Given the description of an element on the screen output the (x, y) to click on. 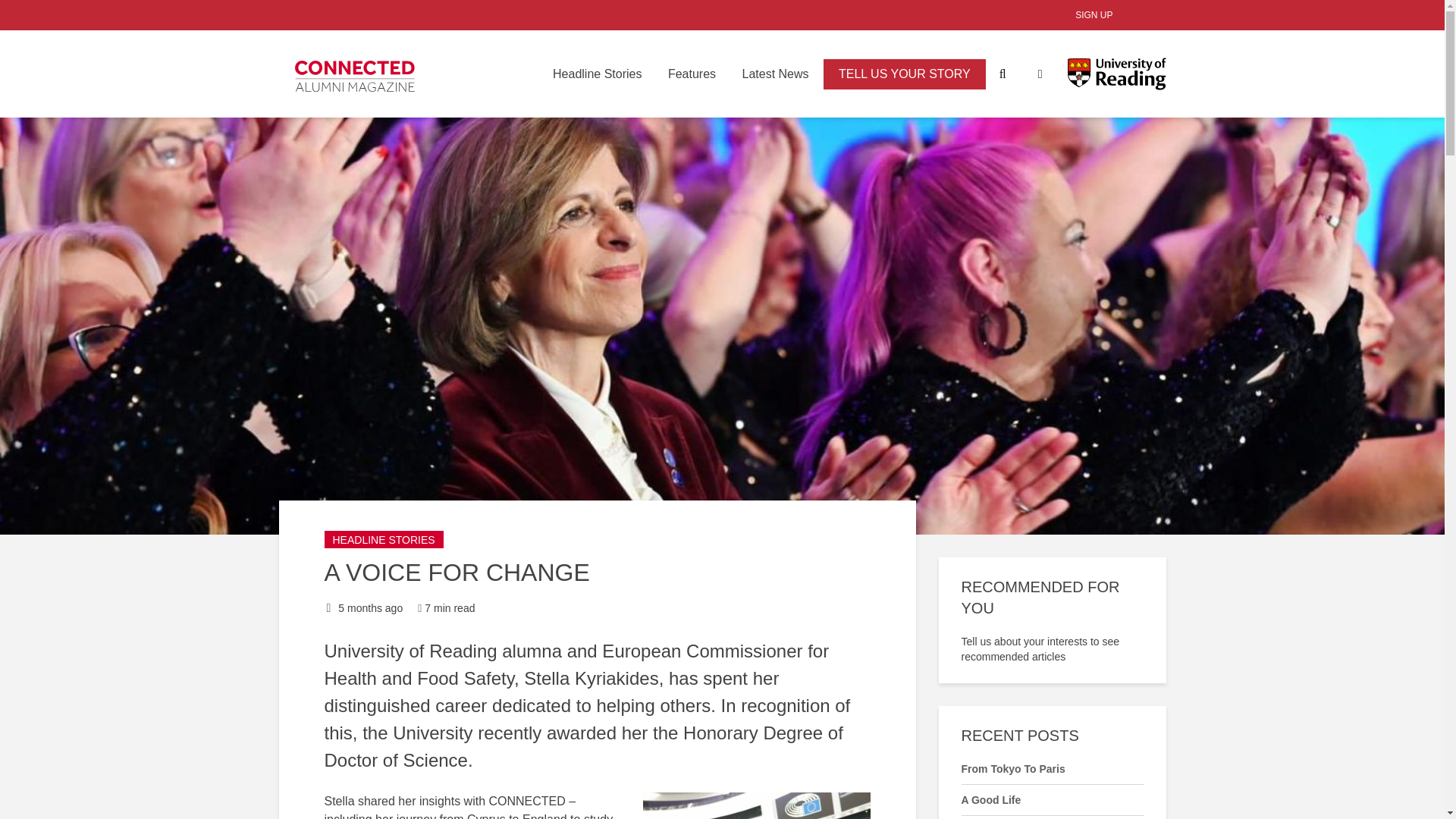
Headline Stories (596, 73)
Latest News (774, 73)
Tell us about your interests to see recommended articles (1051, 648)
Tell us about your interests to see recommended articles (1051, 648)
Features (691, 73)
Registration (1093, 14)
SIGN UP (1093, 14)
From Tokyo To Paris (1012, 768)
HEADLINE STORIES (384, 538)
TELL US YOUR STORY (904, 73)
A Good Life (991, 799)
